Given the description of an element on the screen output the (x, y) to click on. 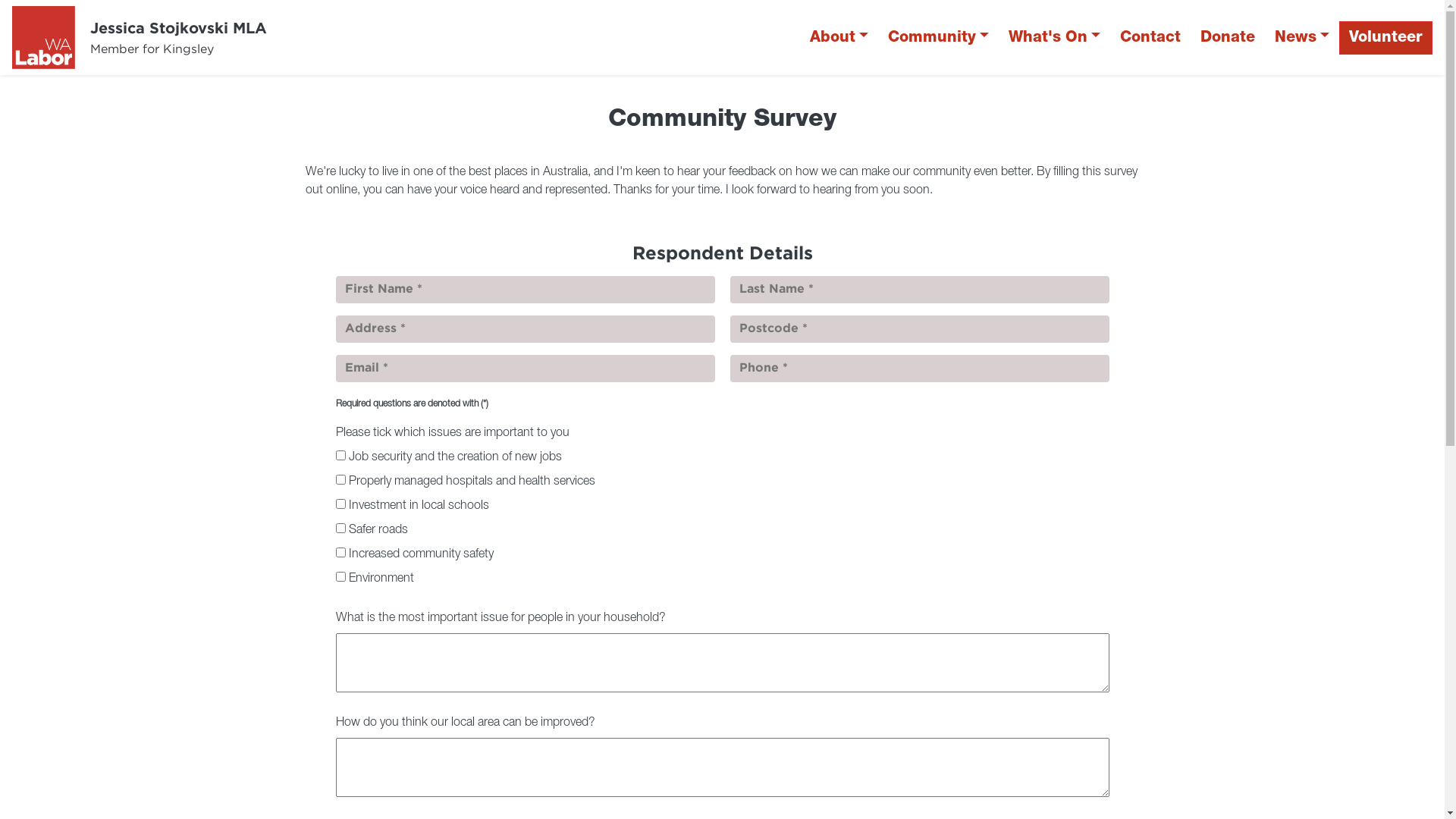
News Element type: text (1301, 37)
Donate Element type: text (1227, 37)
Community Element type: text (938, 37)
What's On Element type: text (1054, 37)
Contact Element type: text (1150, 37)
About Element type: text (839, 37)
Volunteer Element type: text (1385, 37)
